Given the description of an element on the screen output the (x, y) to click on. 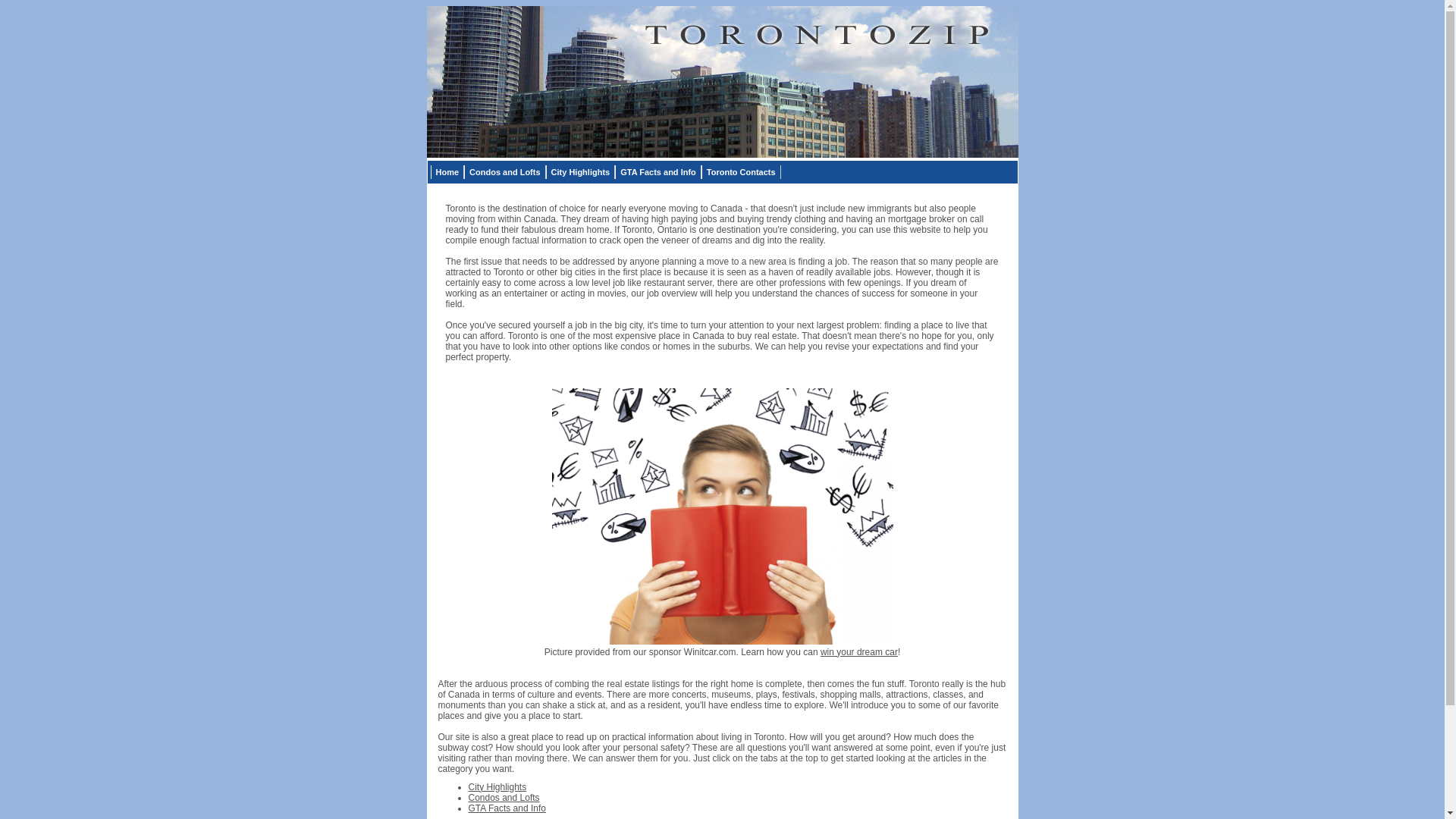
City Highlights Element type: text (580, 171)
Home Element type: text (447, 171)
Toronto Contacts Element type: text (741, 171)
win your dream car Element type: text (858, 651)
GTA Facts and Info Element type: text (507, 807)
City Highlights Element type: text (497, 786)
Condos and Lofts Element type: text (505, 171)
Condos and Lofts Element type: text (503, 796)
GTA Facts and Info Element type: text (658, 171)
